Given the description of an element on the screen output the (x, y) to click on. 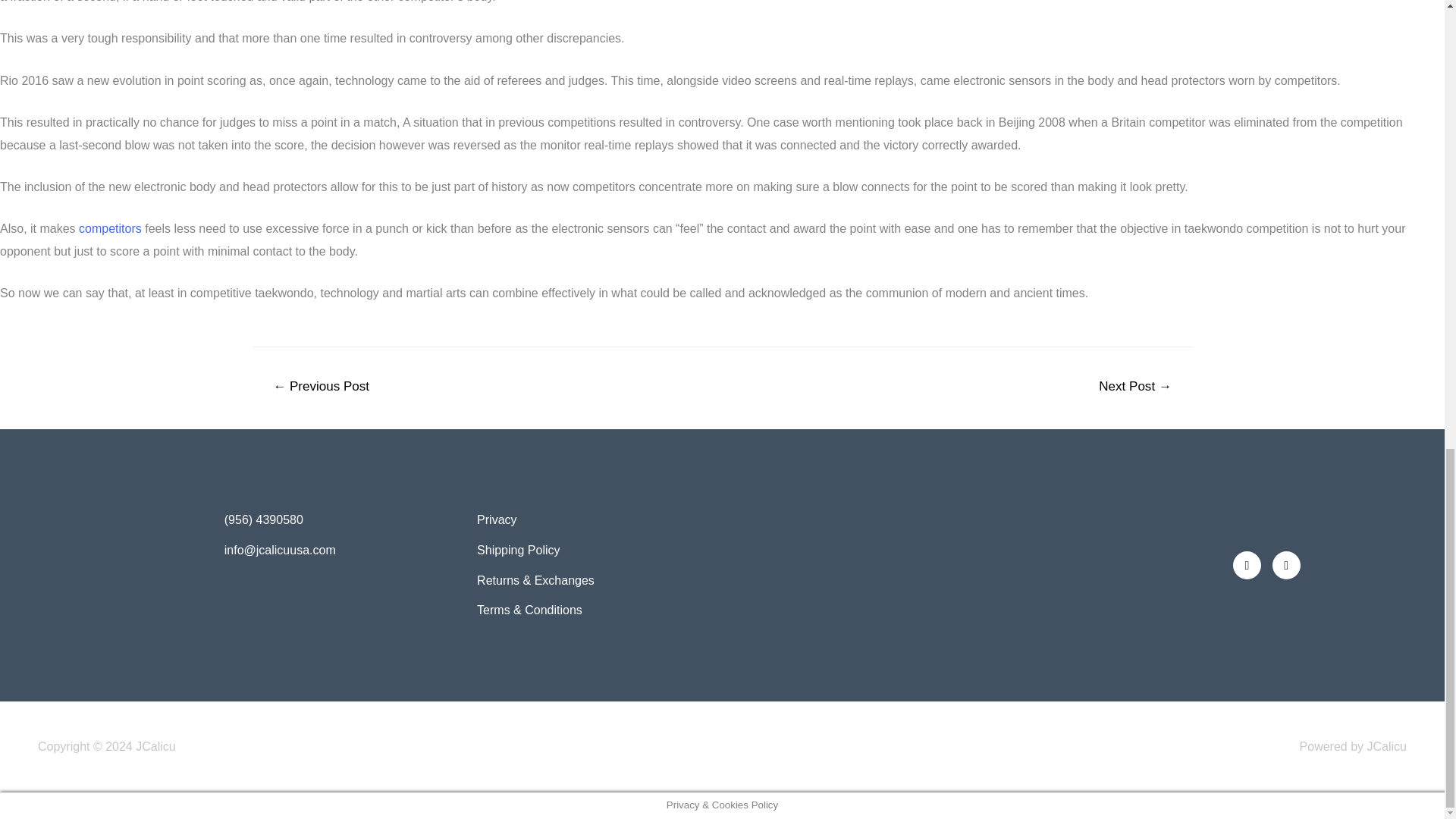
Shipping Policy (595, 549)
Privacy (595, 519)
competitors (109, 228)
